Given the description of an element on the screen output the (x, y) to click on. 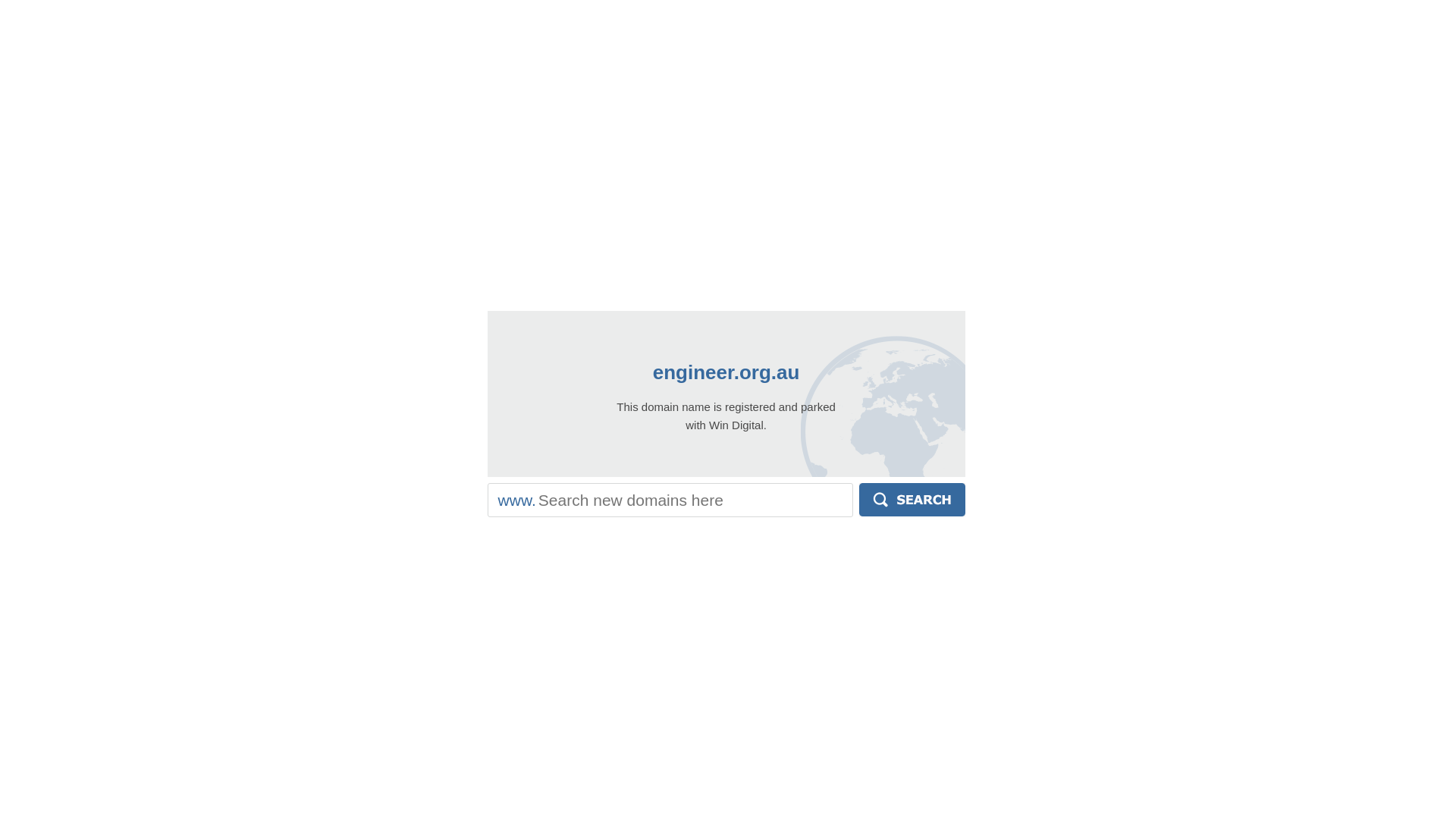
Search Element type: text (912, 499)
